Given the description of an element on the screen output the (x, y) to click on. 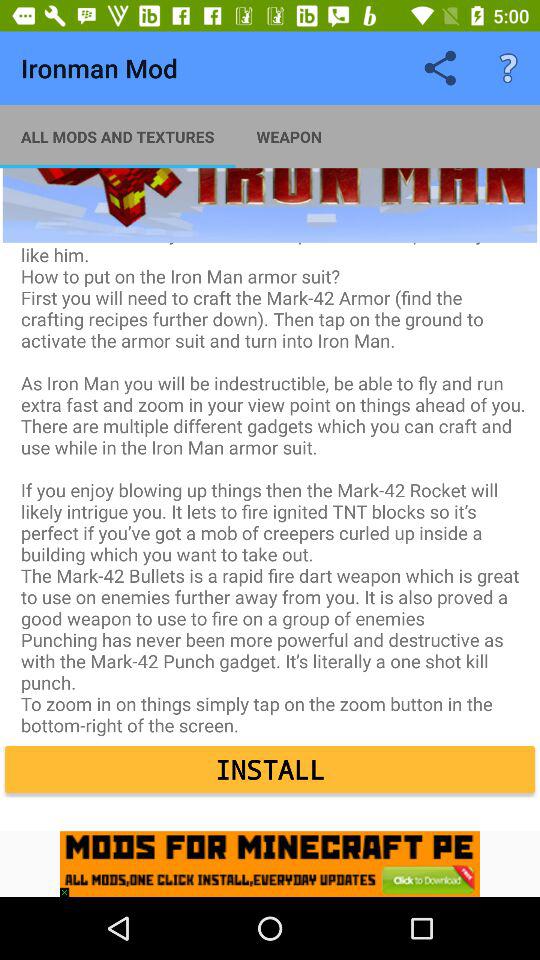
choose the item above the the iron man (117, 136)
